Given the description of an element on the screen output the (x, y) to click on. 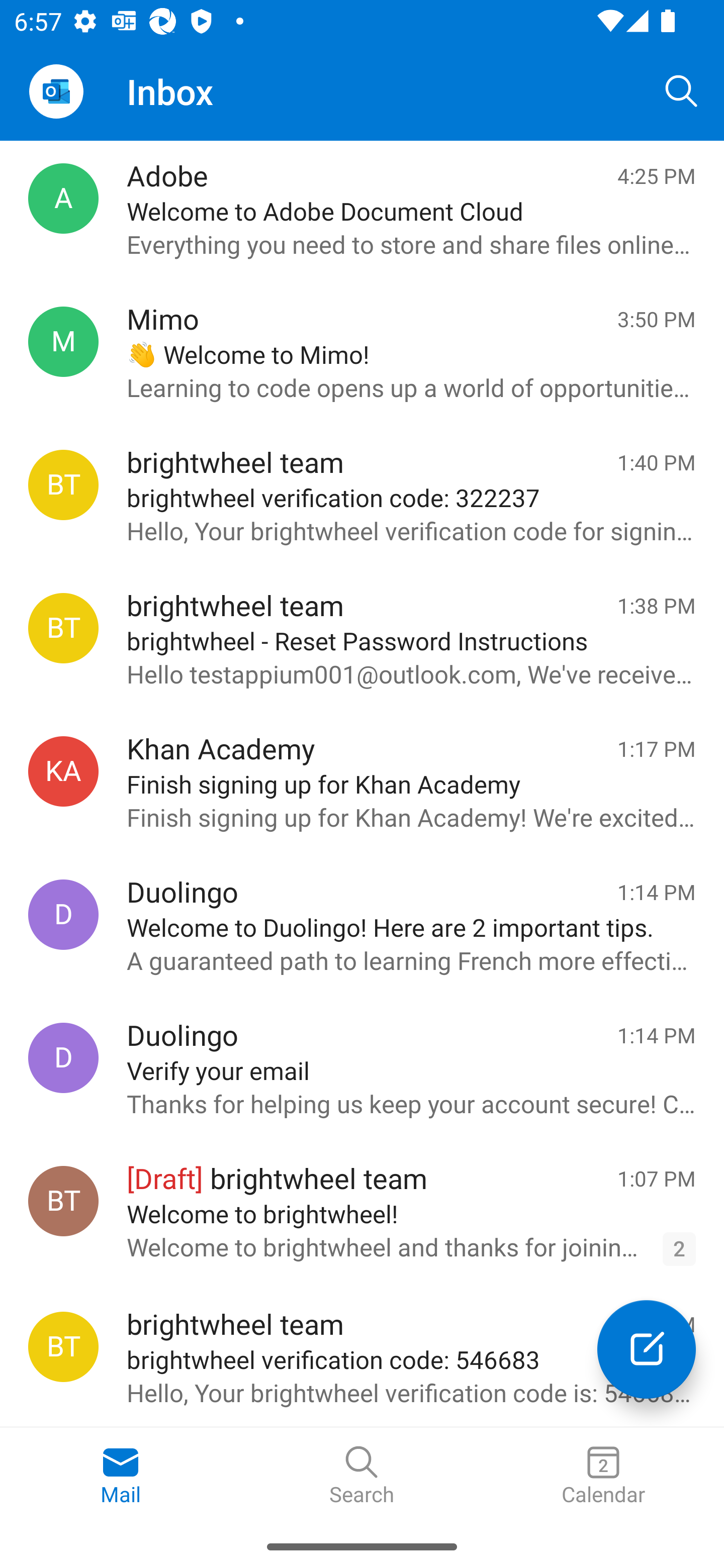
Search (681, 90)
Open Navigation Drawer (55, 91)
Adobe, message@adobe.com (63, 198)
Mimo, support@getmimo.com (63, 341)
brightwheel team, recovery@mybrightwheel.com (63, 485)
brightwheel team, recovery@mybrightwheel.com (63, 627)
Khan Academy, no-reply@khanacademy.org (63, 770)
Duolingo, hello@duolingo.com (63, 914)
Duolingo, hello@duolingo.com (63, 1057)
brightwheel team, welcome@mybrightwheel.com (63, 1200)
Compose (646, 1348)
brightwheel team, recovery@mybrightwheel.com (63, 1346)
Search (361, 1475)
Calendar (603, 1475)
